Given the description of an element on the screen output the (x, y) to click on. 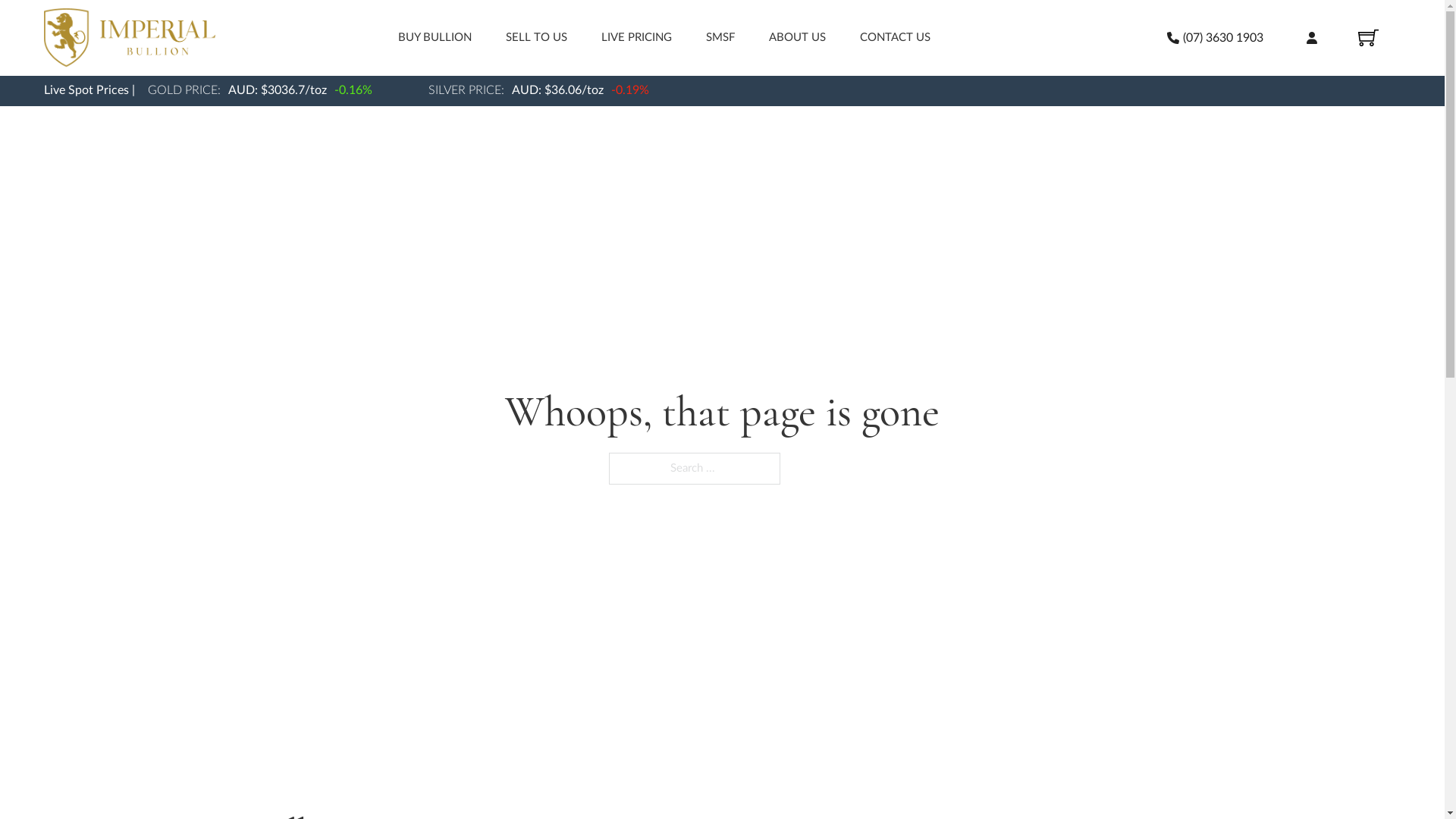
LIVE PRICING Element type: text (636, 37)
CONTACT US Element type: text (894, 37)
(07) 3630 1903 Element type: text (1215, 37)
SELL TO US Element type: text (536, 37)
BUY BULLION Element type: text (434, 37)
ABOUT US Element type: text (796, 37)
SMSF Element type: text (720, 37)
